Given the description of an element on the screen output the (x, y) to click on. 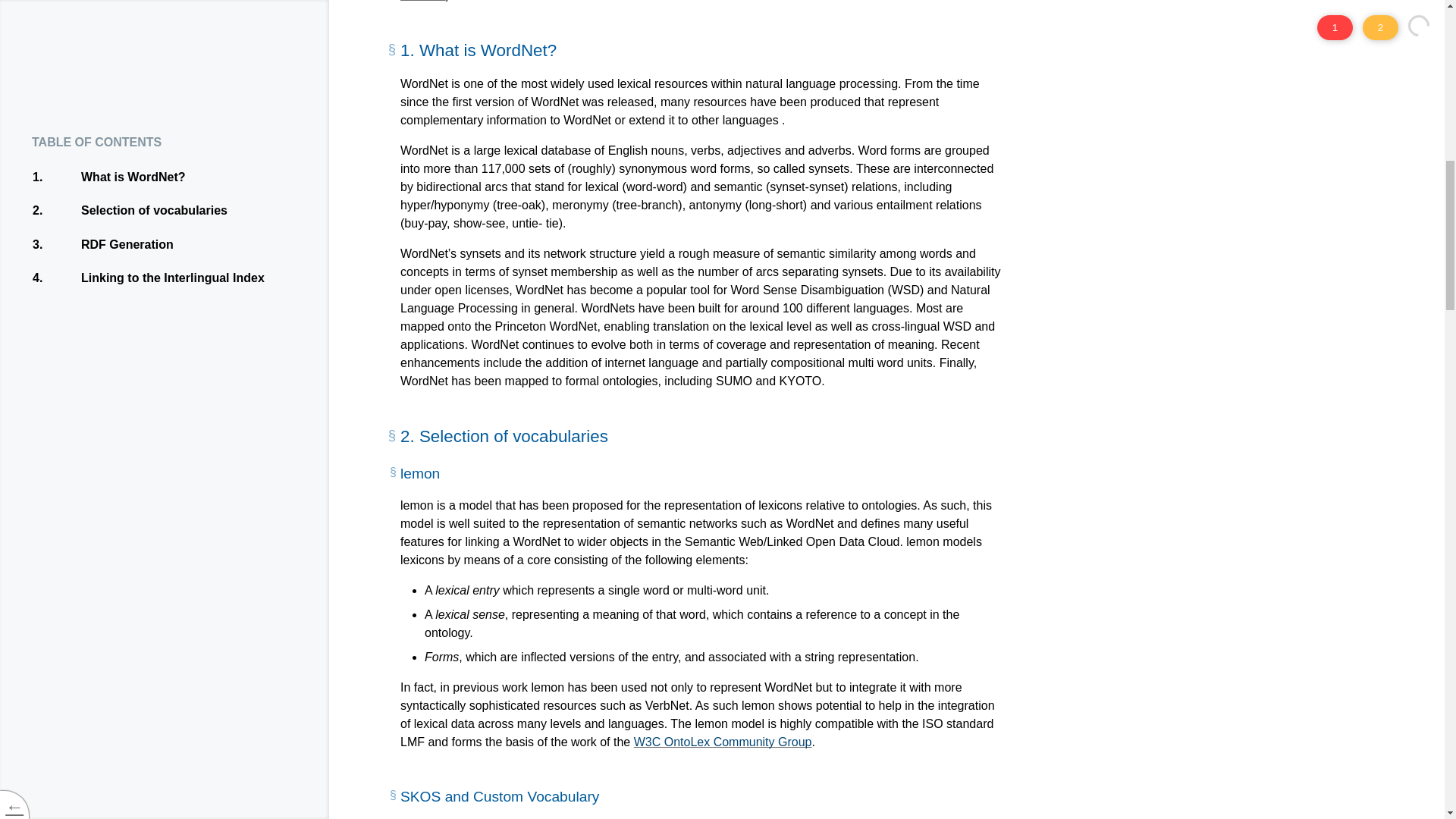
W3C OntoLex Community Group (722, 741)
archives (422, 0)
